Given the description of an element on the screen output the (x, y) to click on. 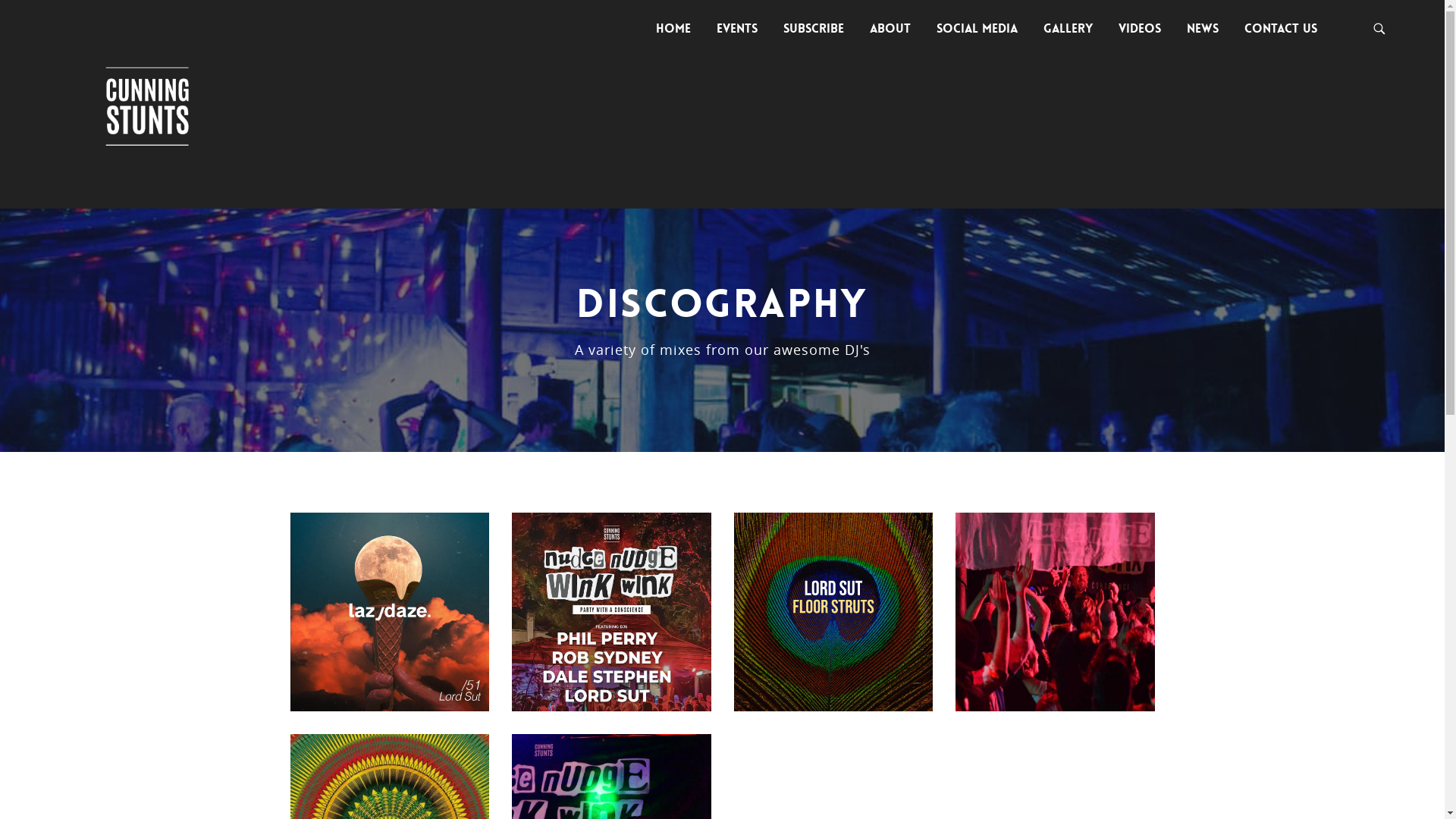
SUBSCRIBE Element type: text (813, 28)
CONTACT US Element type: text (1280, 28)
NEWS Element type: text (1202, 28)
EVENTS Element type: text (736, 28)
GALLERY Element type: text (1068, 28)
VIDEOS Element type: text (1139, 28)
SOCIAL MEDIA Element type: text (977, 28)
ABOUT Element type: text (890, 28)
HOME Element type: text (673, 28)
